Given the description of an element on the screen output the (x, y) to click on. 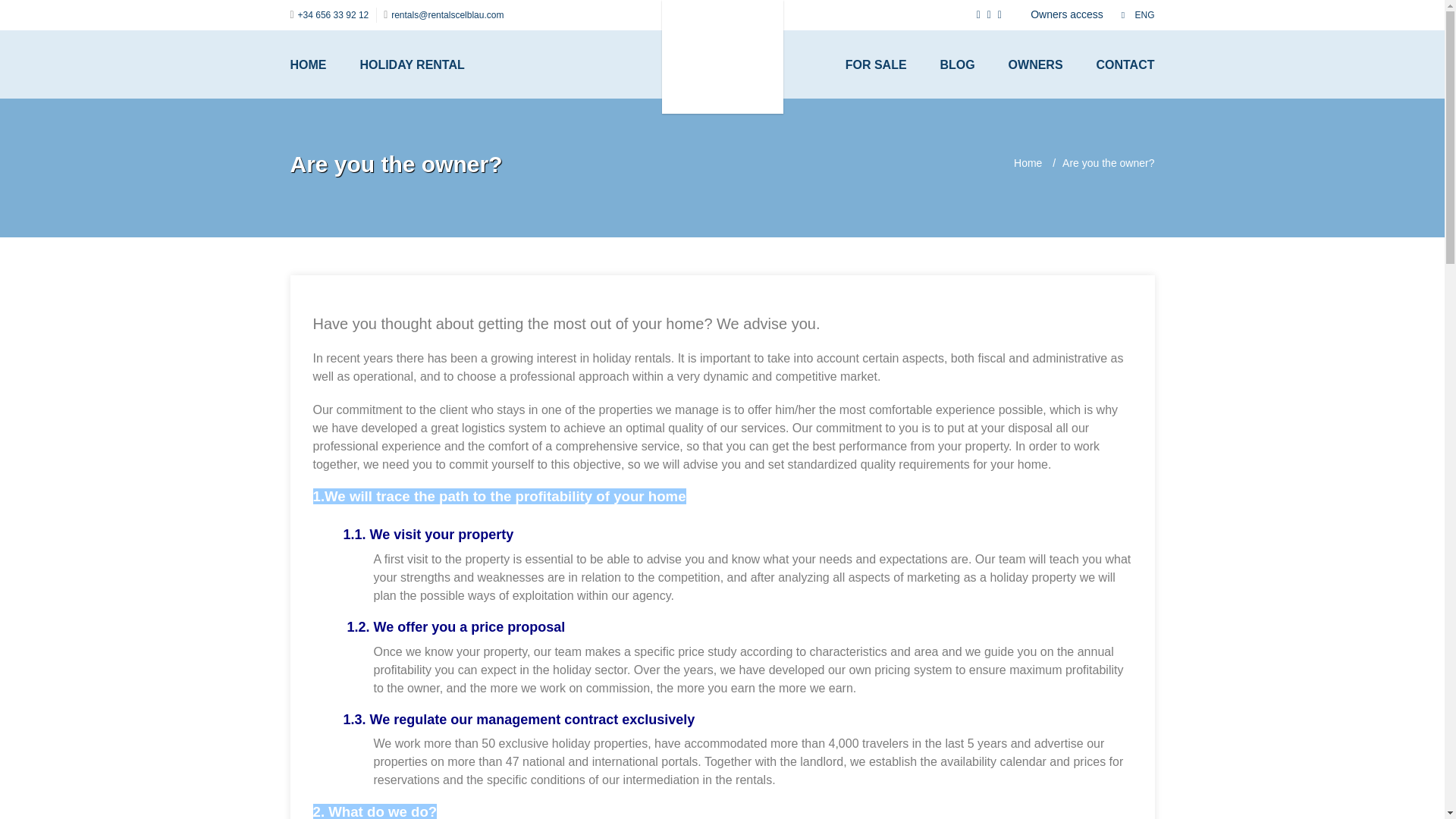
BLOG (971, 64)
HOLIDAY RENTAL (411, 64)
FOR SALE (891, 64)
Home (1027, 162)
Owners access (1066, 14)
HOME (322, 64)
OWNERS (1051, 64)
ENG (1137, 14)
